Given the description of an element on the screen output the (x, y) to click on. 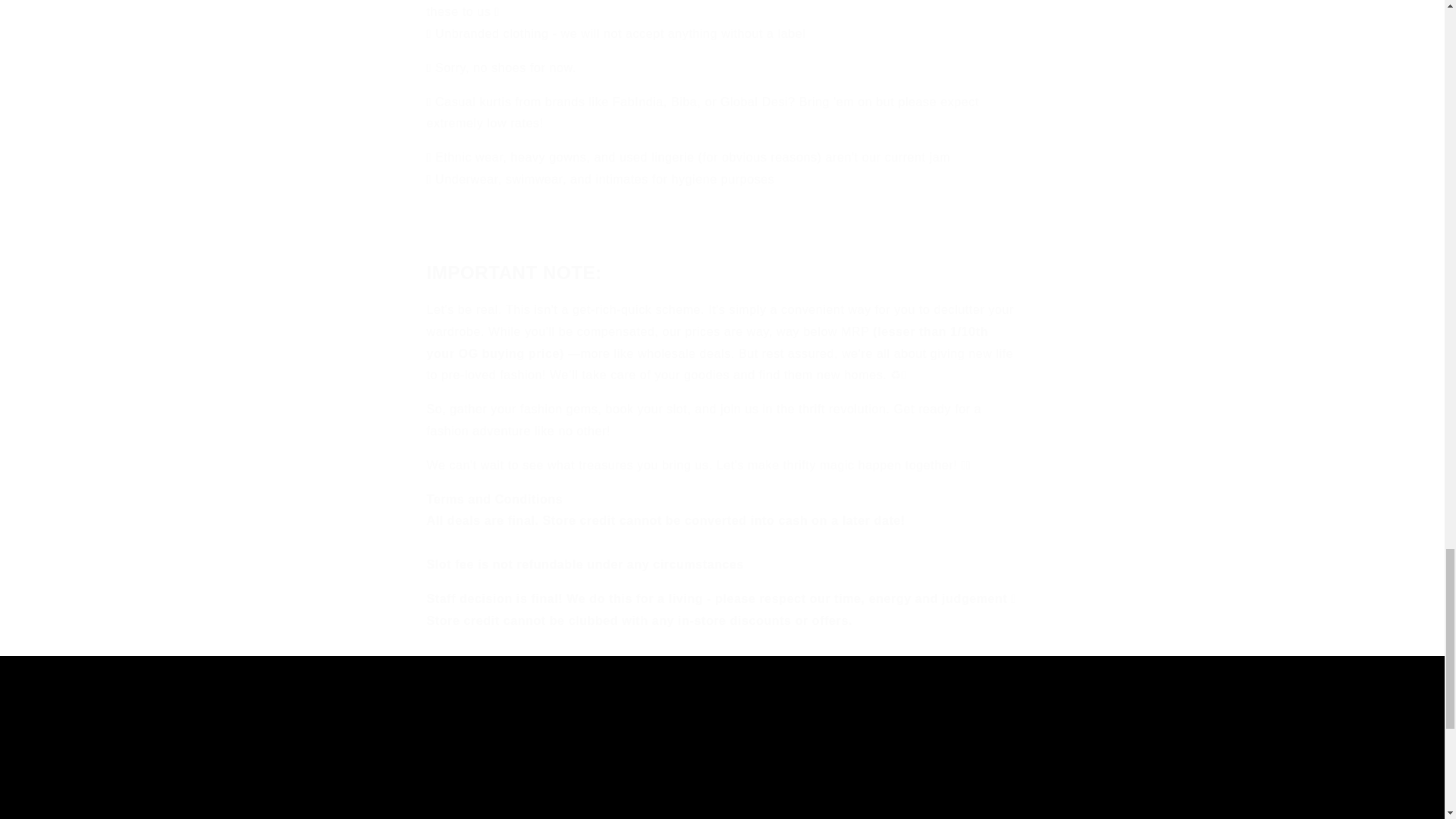
IMPORTANT NOTE: (931, 775)
